Given the description of an element on the screen output the (x, y) to click on. 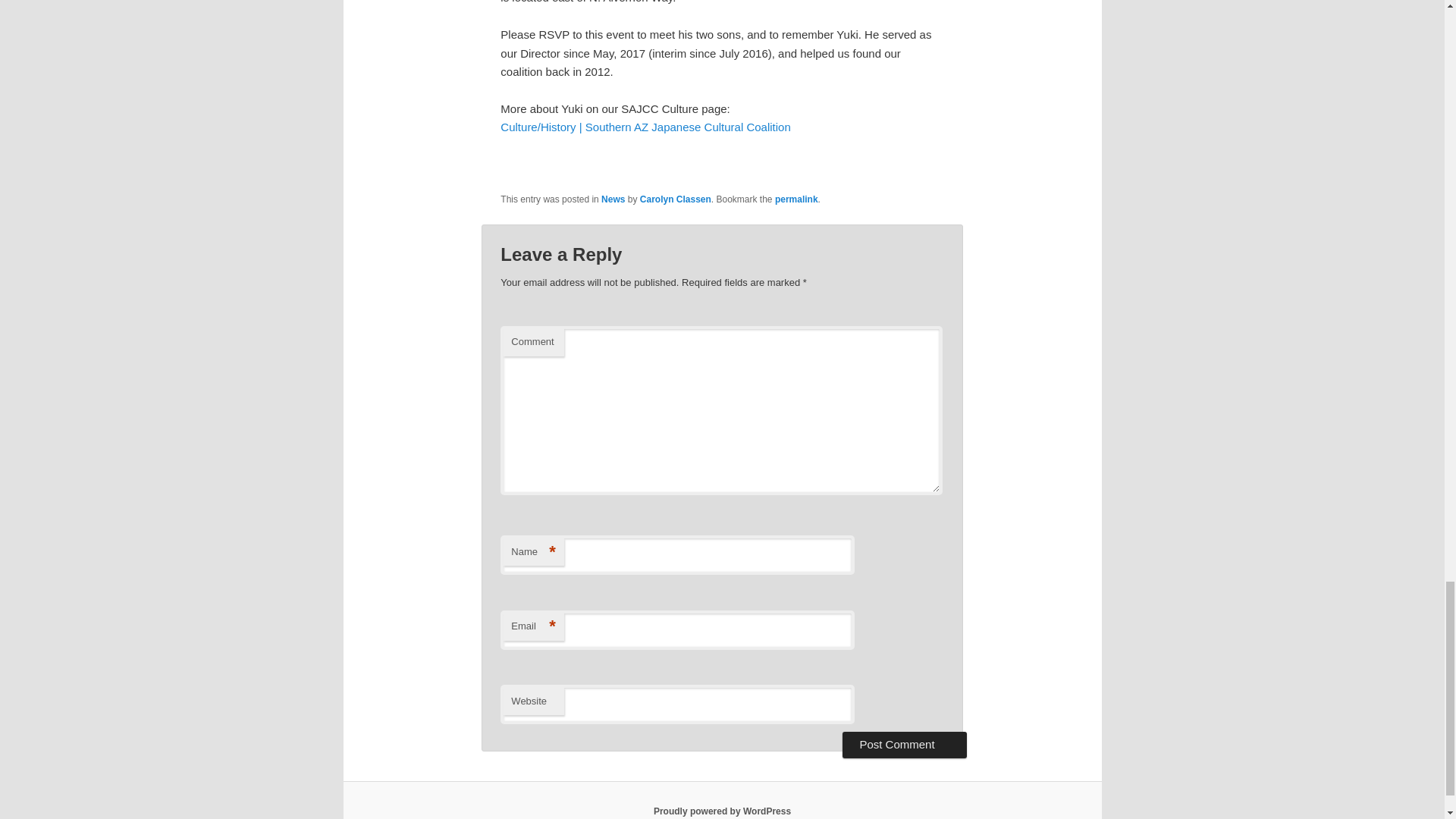
News (612, 199)
Post Comment (904, 744)
Semantic Personal Publishing Platform (721, 810)
Carolyn Classen (675, 199)
Proudly powered by WordPress (721, 810)
Post Comment (904, 744)
permalink (796, 199)
